Given the description of an element on the screen output the (x, y) to click on. 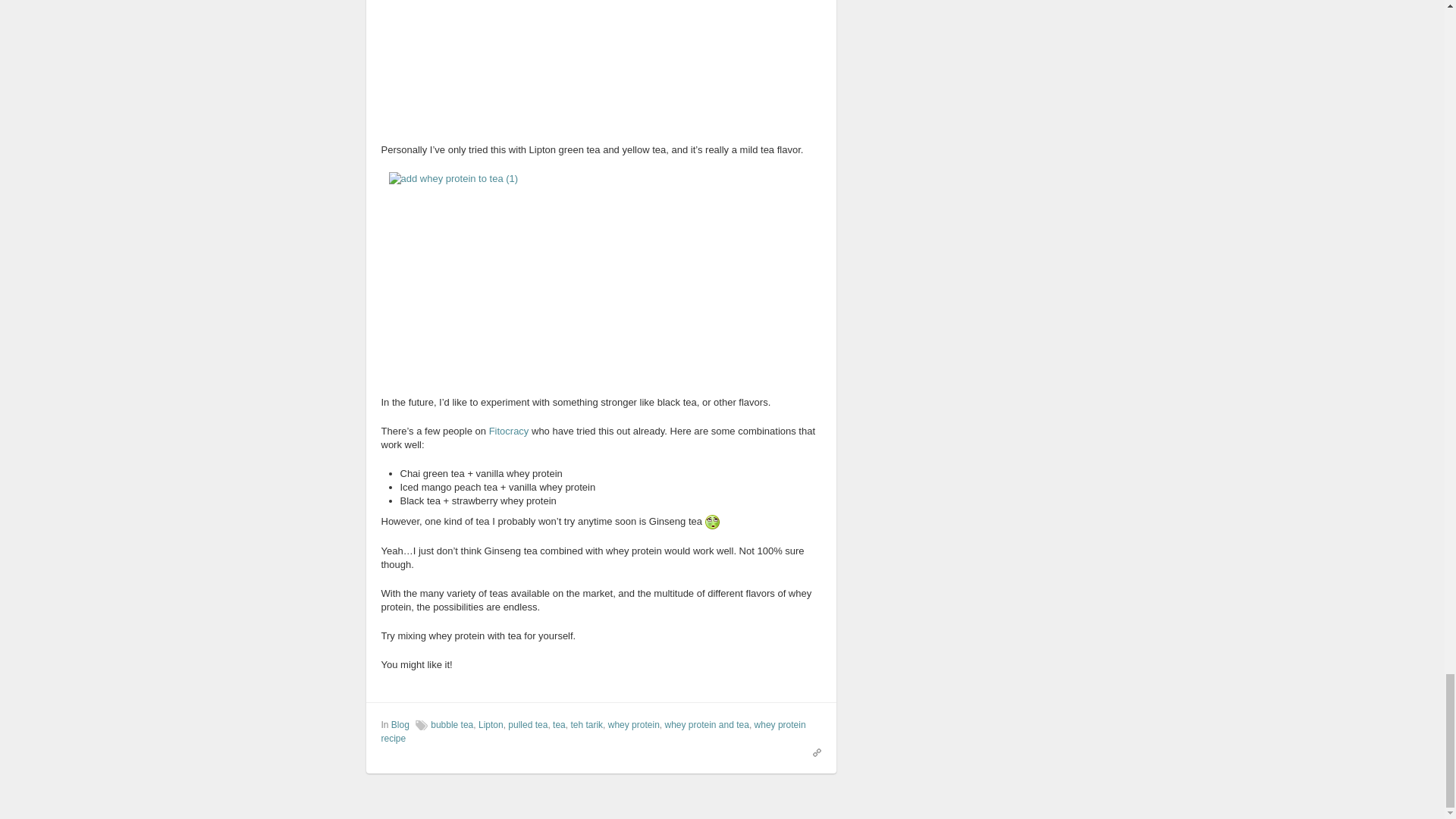
Blog (400, 724)
tea (559, 724)
whey protein and tea (705, 724)
bubble tea (451, 724)
whey protein (633, 724)
whey protein recipe (592, 731)
permalink  (813, 751)
Lipton (491, 724)
teh tarik (586, 724)
pulled tea (527, 724)
